Given the description of an element on the screen output the (x, y) to click on. 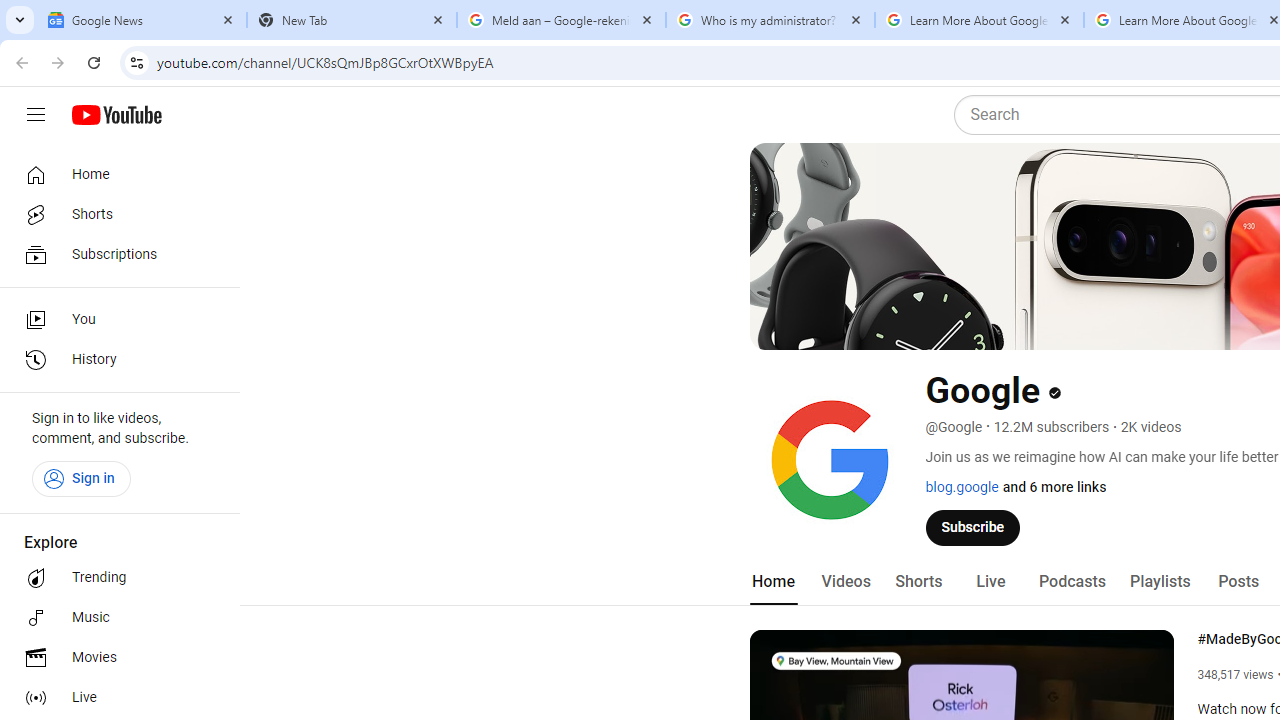
Subscribe (973, 527)
Playlists (1160, 581)
History (113, 359)
Live (990, 581)
and 6 more links (1054, 487)
Who is my administrator? - Google Account Help (770, 20)
Trending (113, 578)
Posts (1238, 581)
YouTube Home (116, 115)
